Given the description of an element on the screen output the (x, y) to click on. 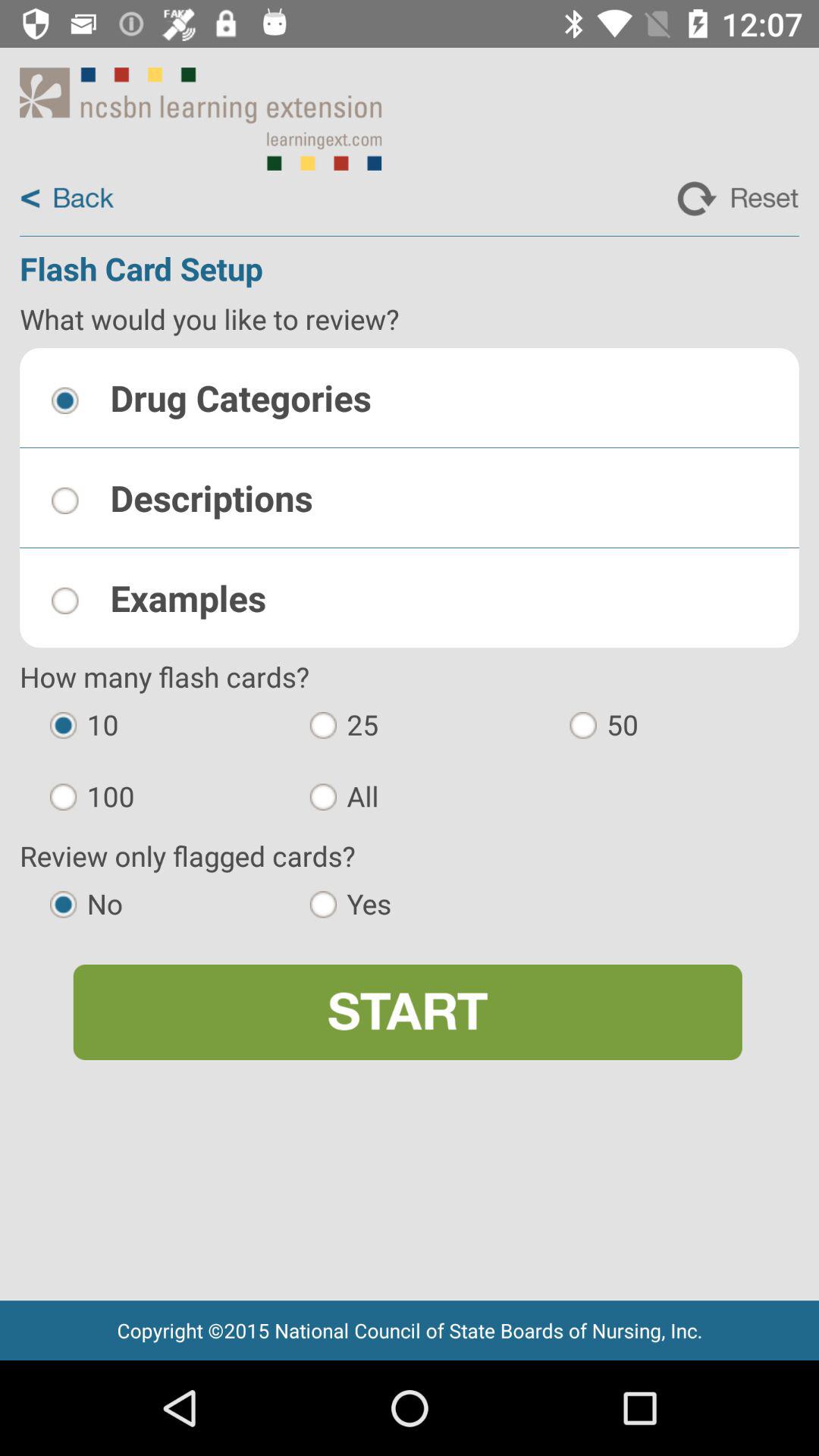
start flash cards (407, 1012)
